Given the description of an element on the screen output the (x, y) to click on. 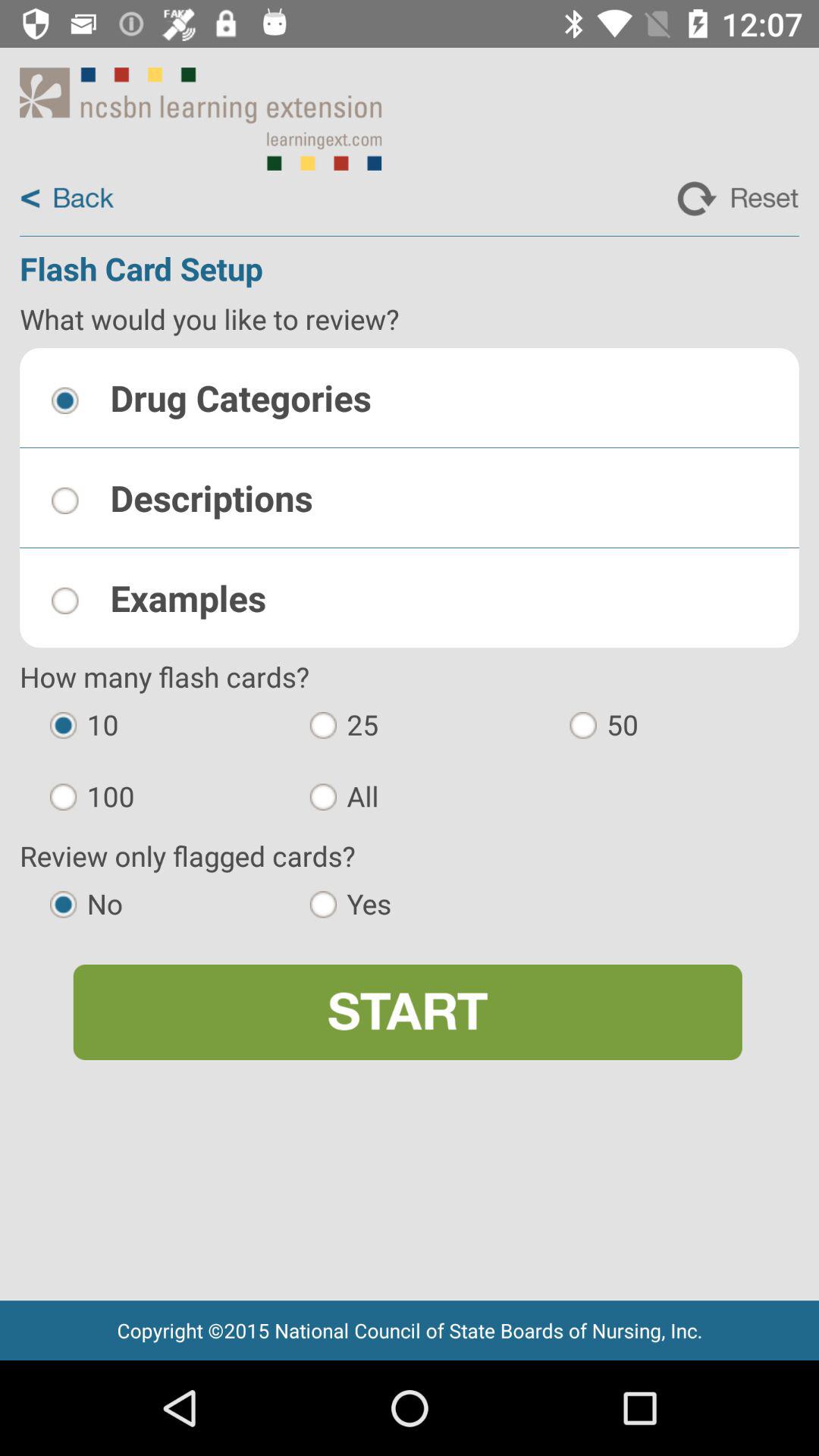
start flash cards (407, 1012)
